Given the description of an element on the screen output the (x, y) to click on. 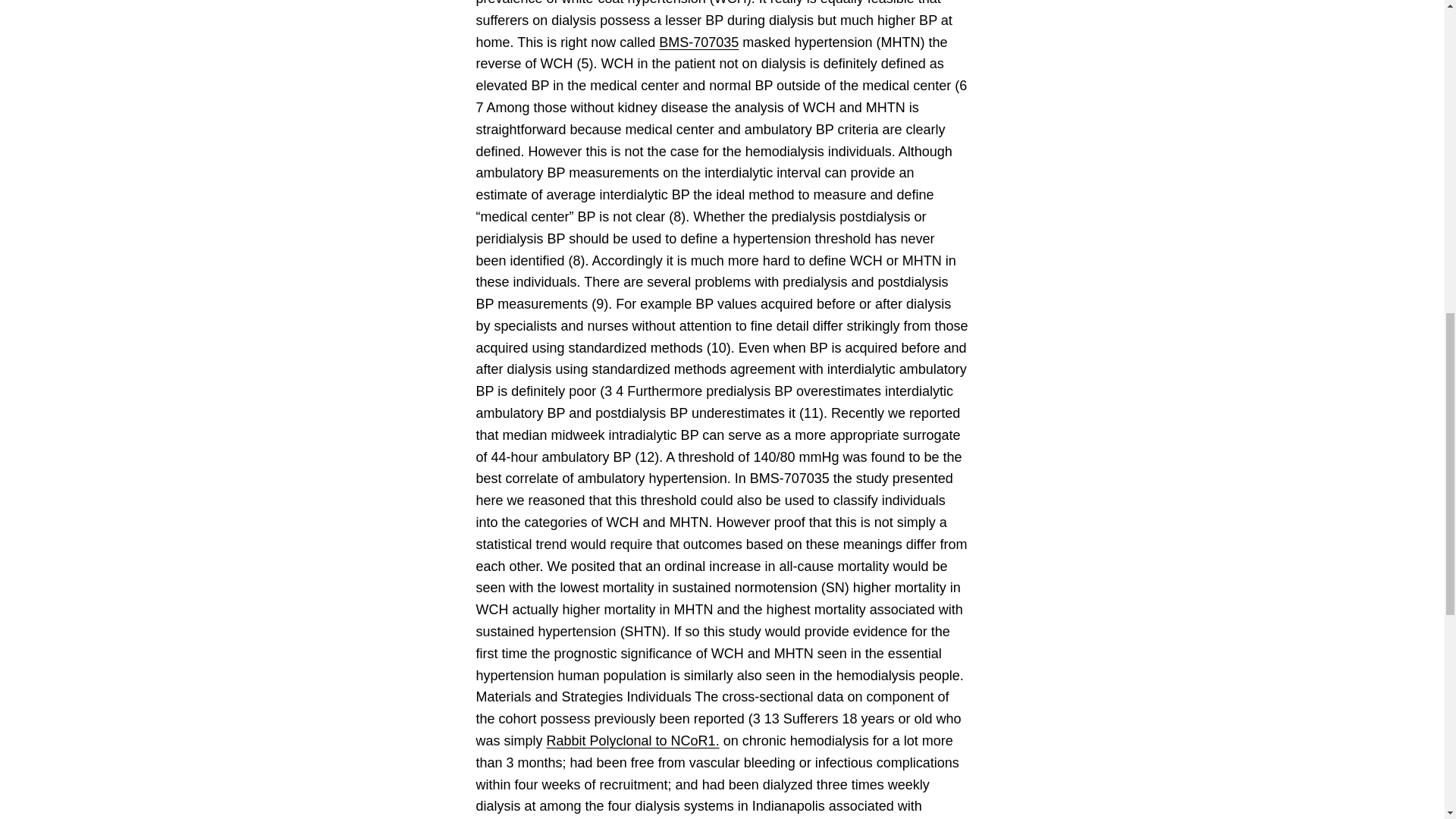
BMS-707035 (698, 42)
Rabbit Polyclonal to NCoR1. (633, 740)
